Given the description of an element on the screen output the (x, y) to click on. 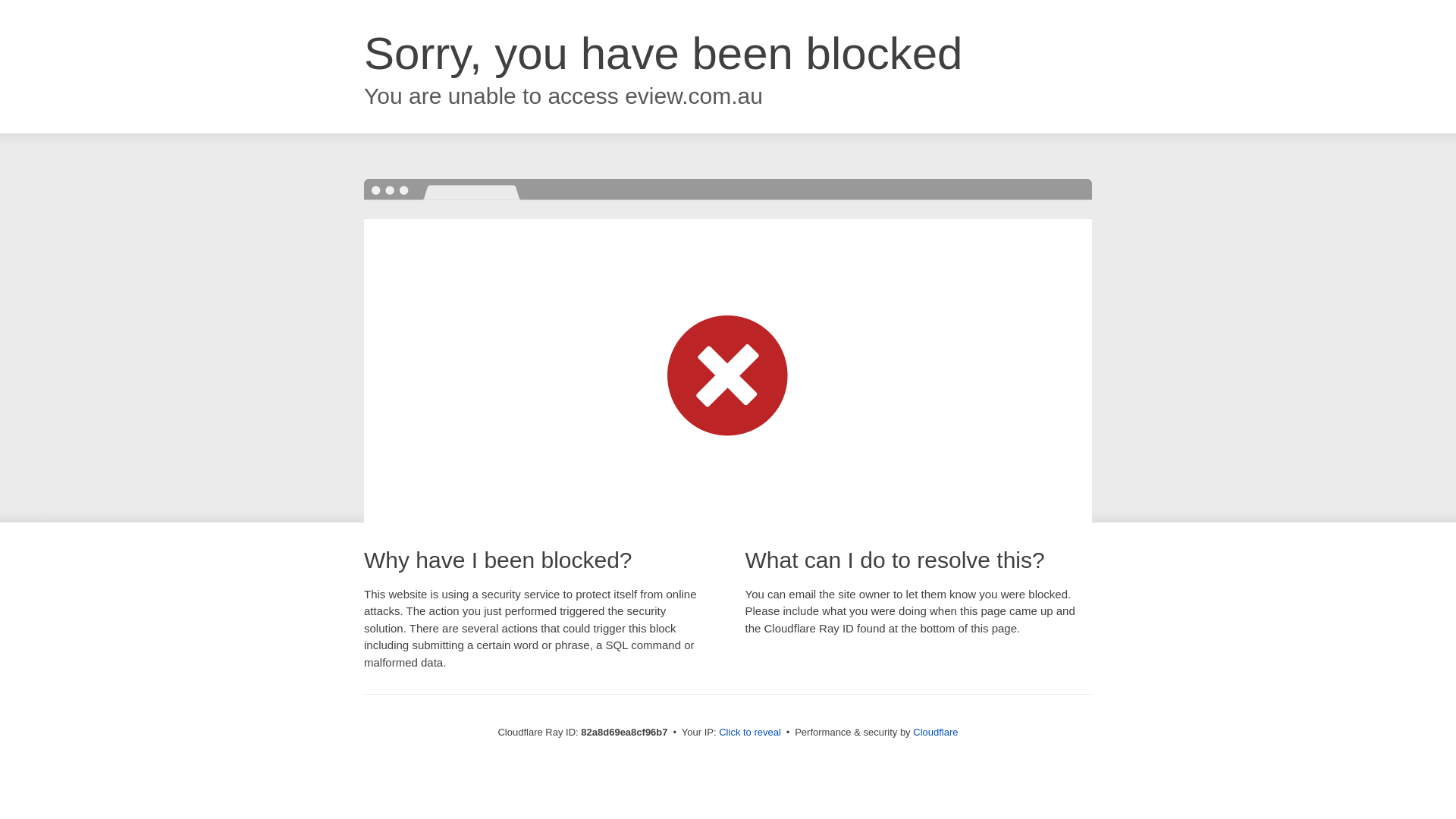
Click to reveal Element type: text (749, 732)
Cloudflare Element type: text (935, 731)
